Given the description of an element on the screen output the (x, y) to click on. 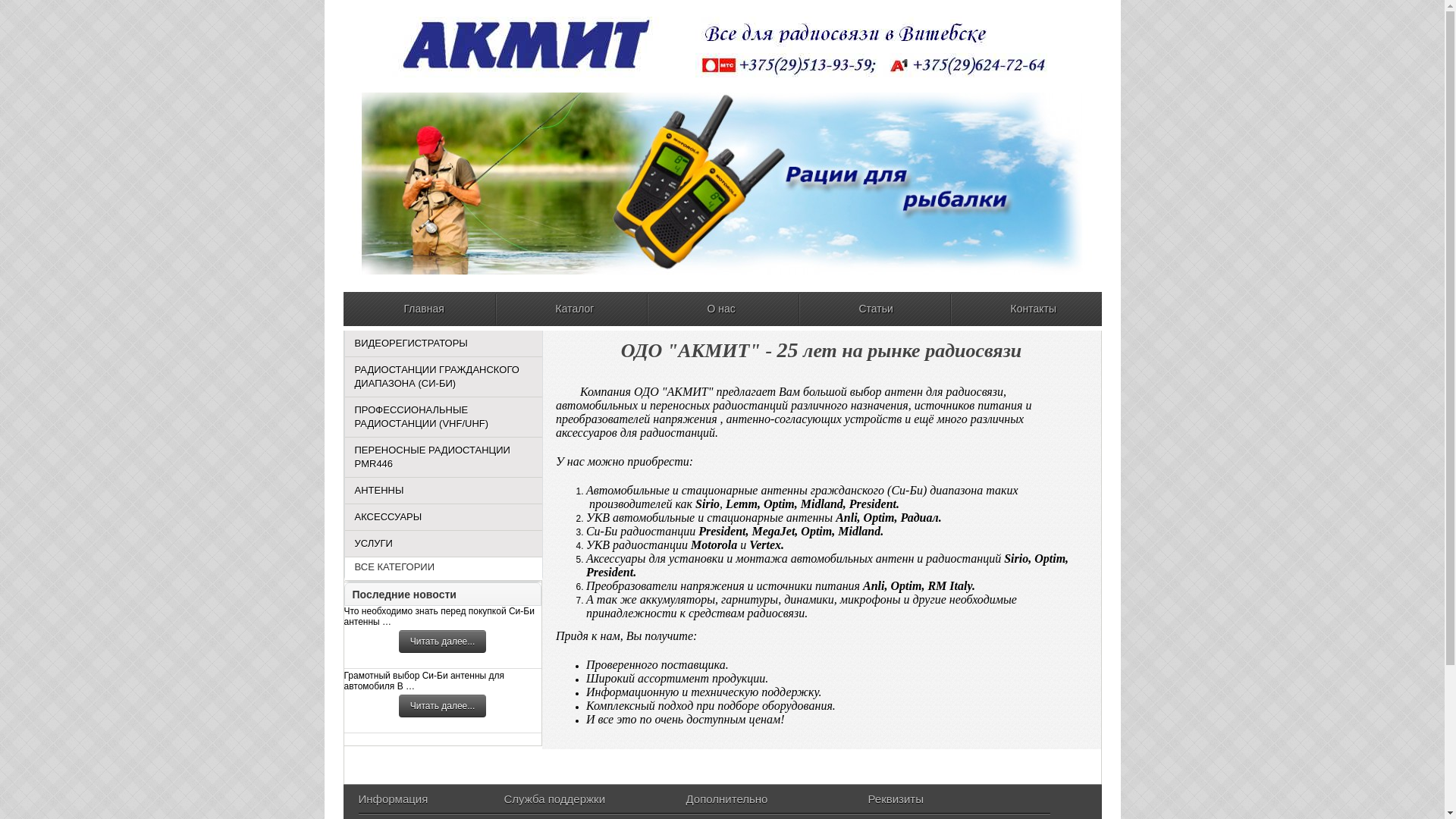
rybalka Element type: hover (722, 183)
